Given the description of an element on the screen output the (x, y) to click on. 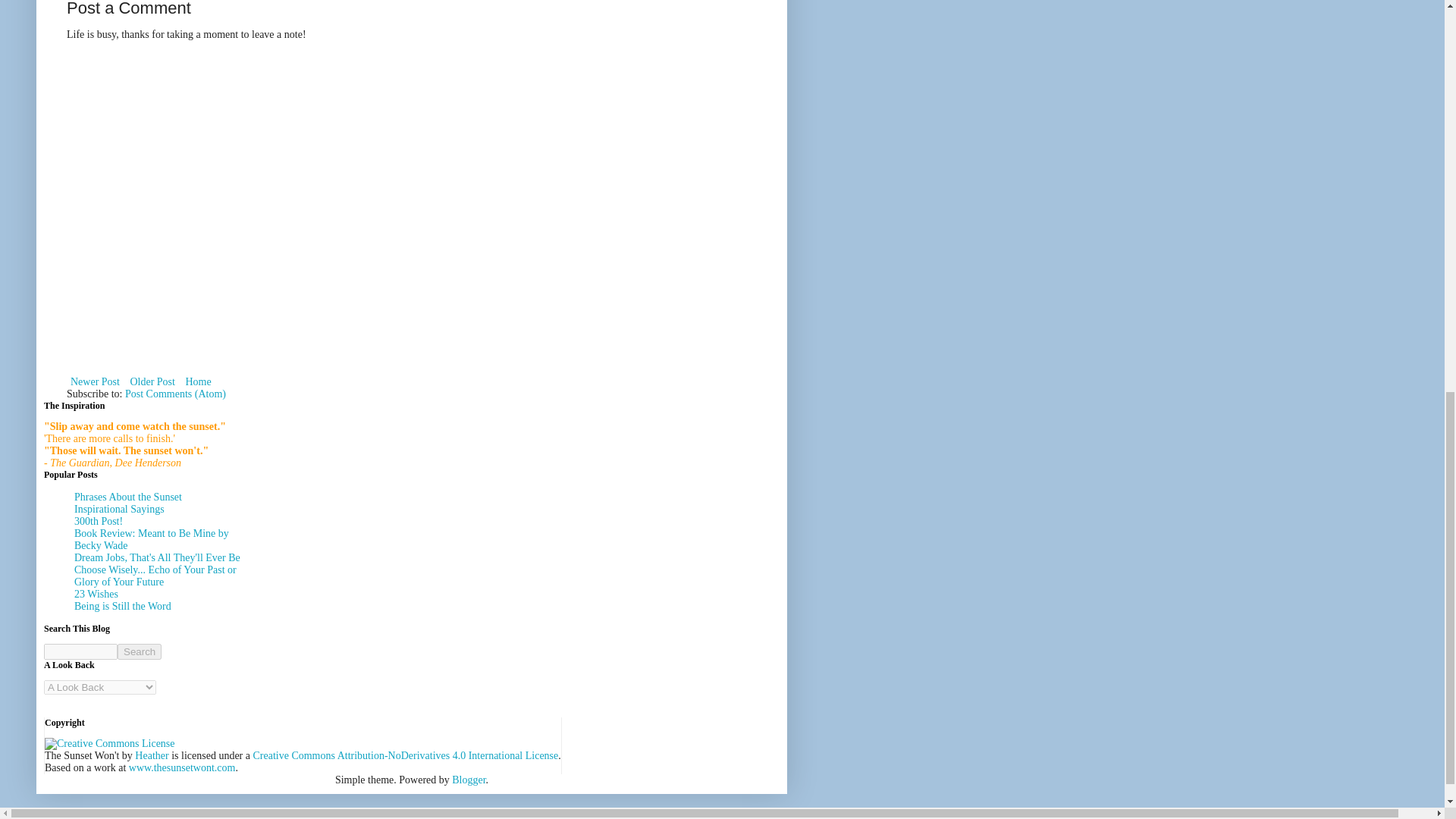
Phrases About the Sunset (128, 496)
Older Post (152, 380)
Being is Still the Word (122, 605)
Book Review: Meant to Be Mine by Becky Wade (151, 539)
Home (197, 380)
Newer Post (94, 380)
Blogger (467, 778)
23 Wishes (95, 593)
Inspirational Sayings (119, 509)
Dream Jobs, That's All They'll Ever Be (157, 557)
Search (139, 650)
Older Post (152, 380)
Newer Post (94, 380)
300th Post! (98, 521)
